Given the description of an element on the screen output the (x, y) to click on. 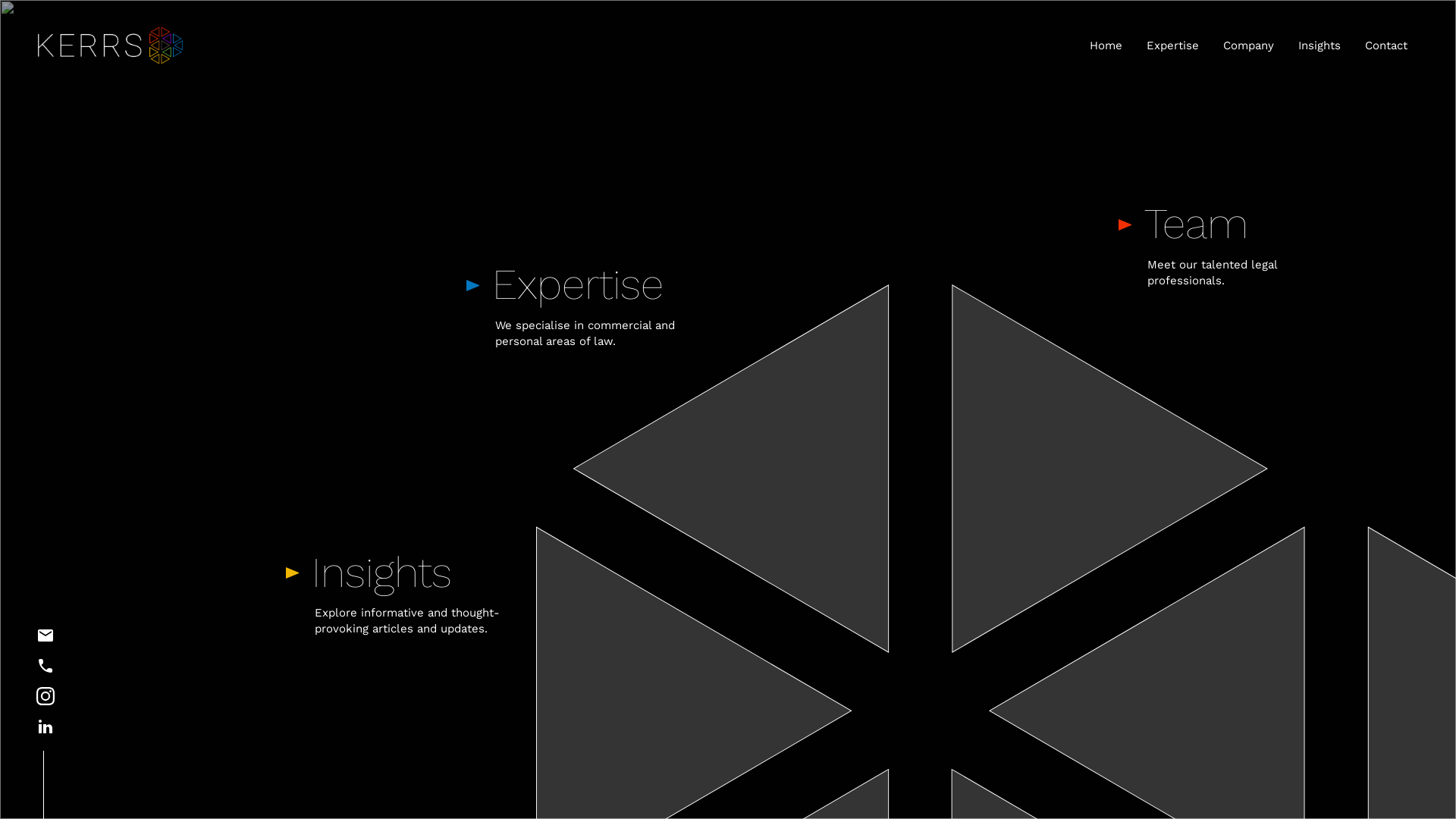
Contact Element type: text (1385, 45)
Home Element type: text (1105, 45)
Instagram Element type: text (43, 696)
Insights Element type: text (1319, 45)
Company Element type: text (1248, 45)
Expertise Element type: text (1172, 45)
LinkedIn Element type: text (43, 726)
Phone Element type: text (43, 665)
